Given the description of an element on the screen output the (x, y) to click on. 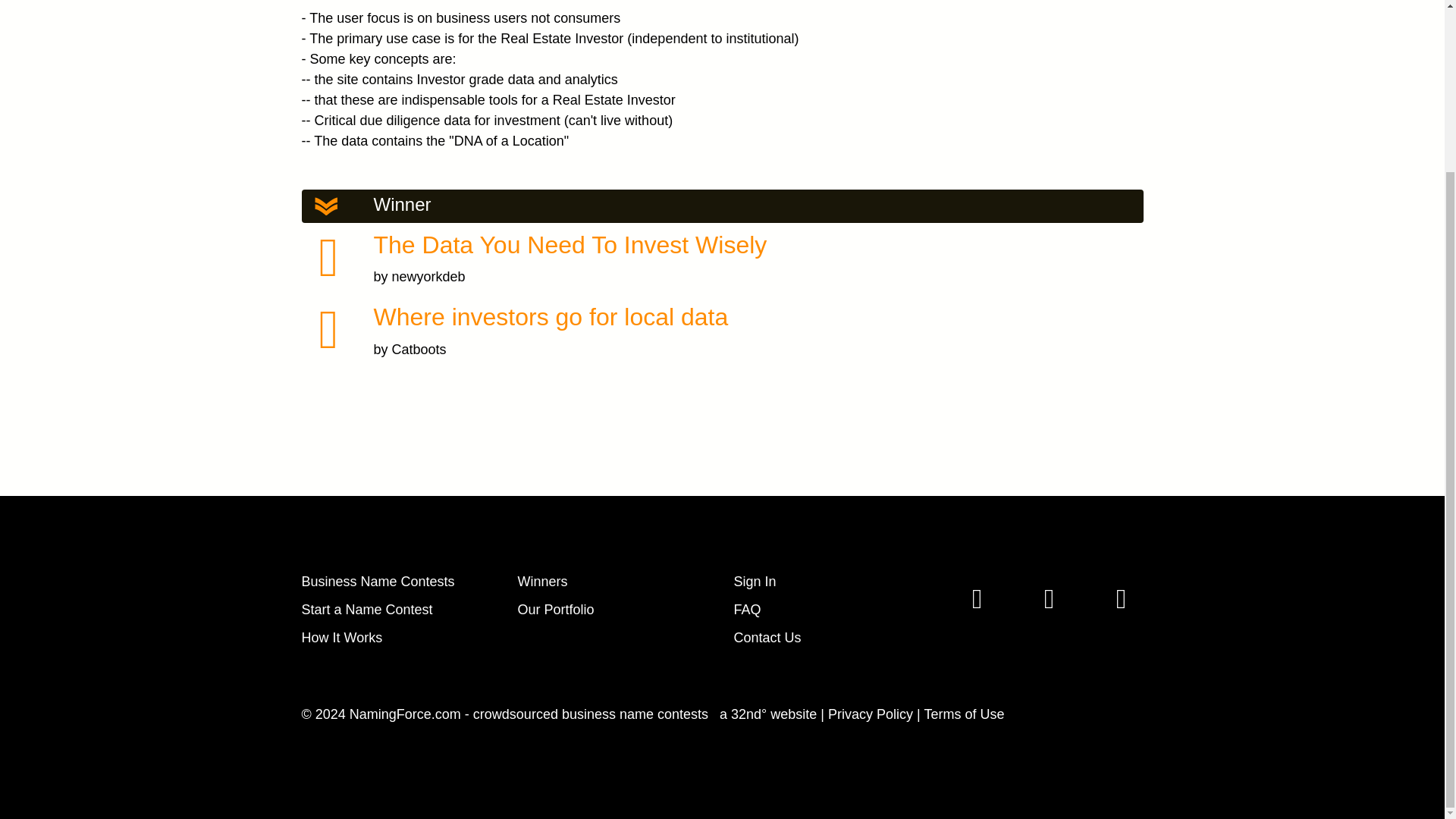
Terms of Use (963, 713)
How It Works (341, 637)
Our Portfolio (555, 609)
chosen winner (328, 257)
Privacy Policy (870, 713)
Business Name Contests (377, 581)
Catboots (418, 349)
Winners (541, 581)
FAQ (747, 609)
Contact Us (767, 637)
